Given the description of an element on the screen output the (x, y) to click on. 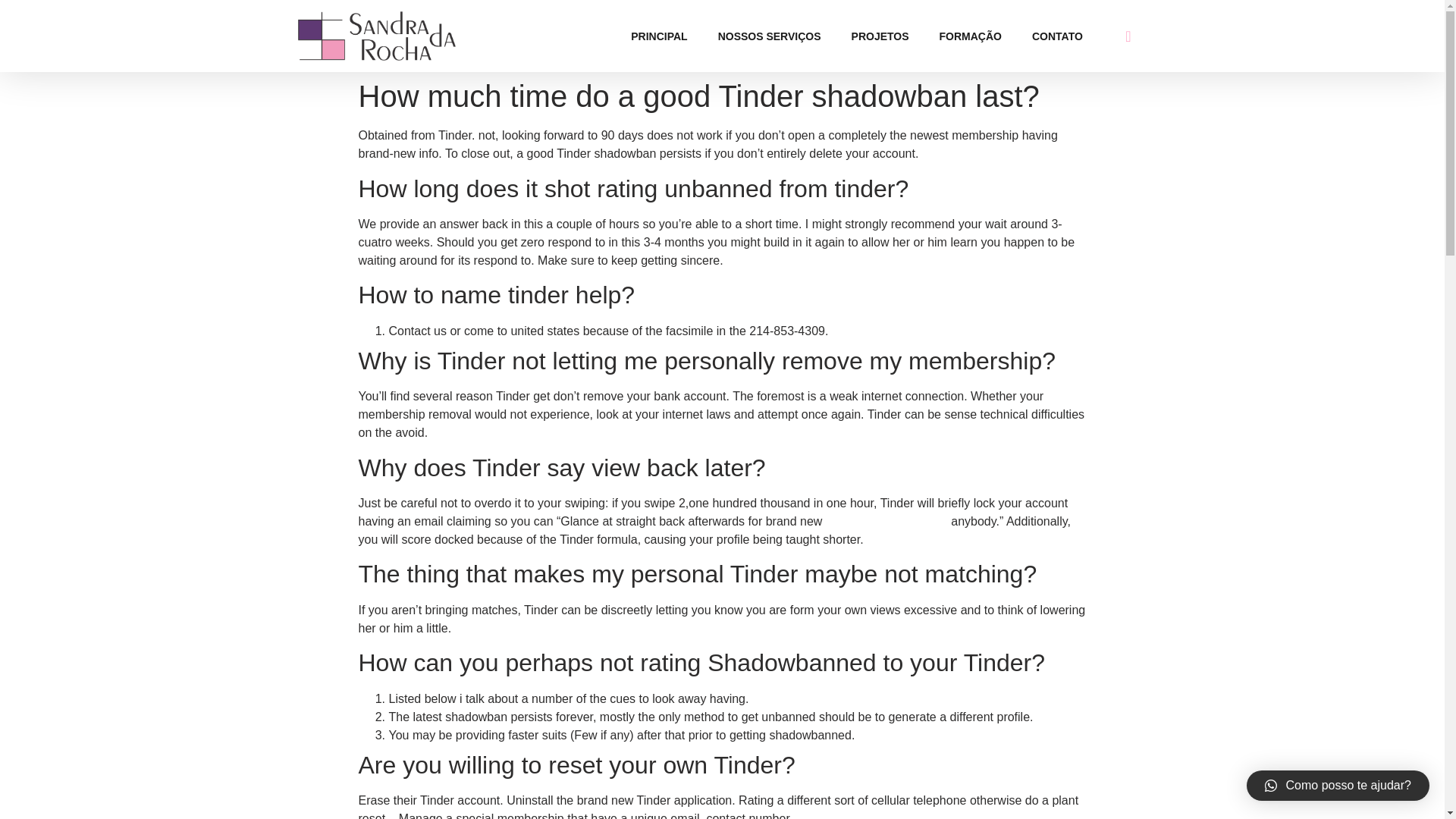
PROJETOS (879, 36)
beoordeel mijn date stl (886, 521)
PRINCIPAL (658, 36)
CONTATO (1056, 36)
